Given the description of an element on the screen output the (x, y) to click on. 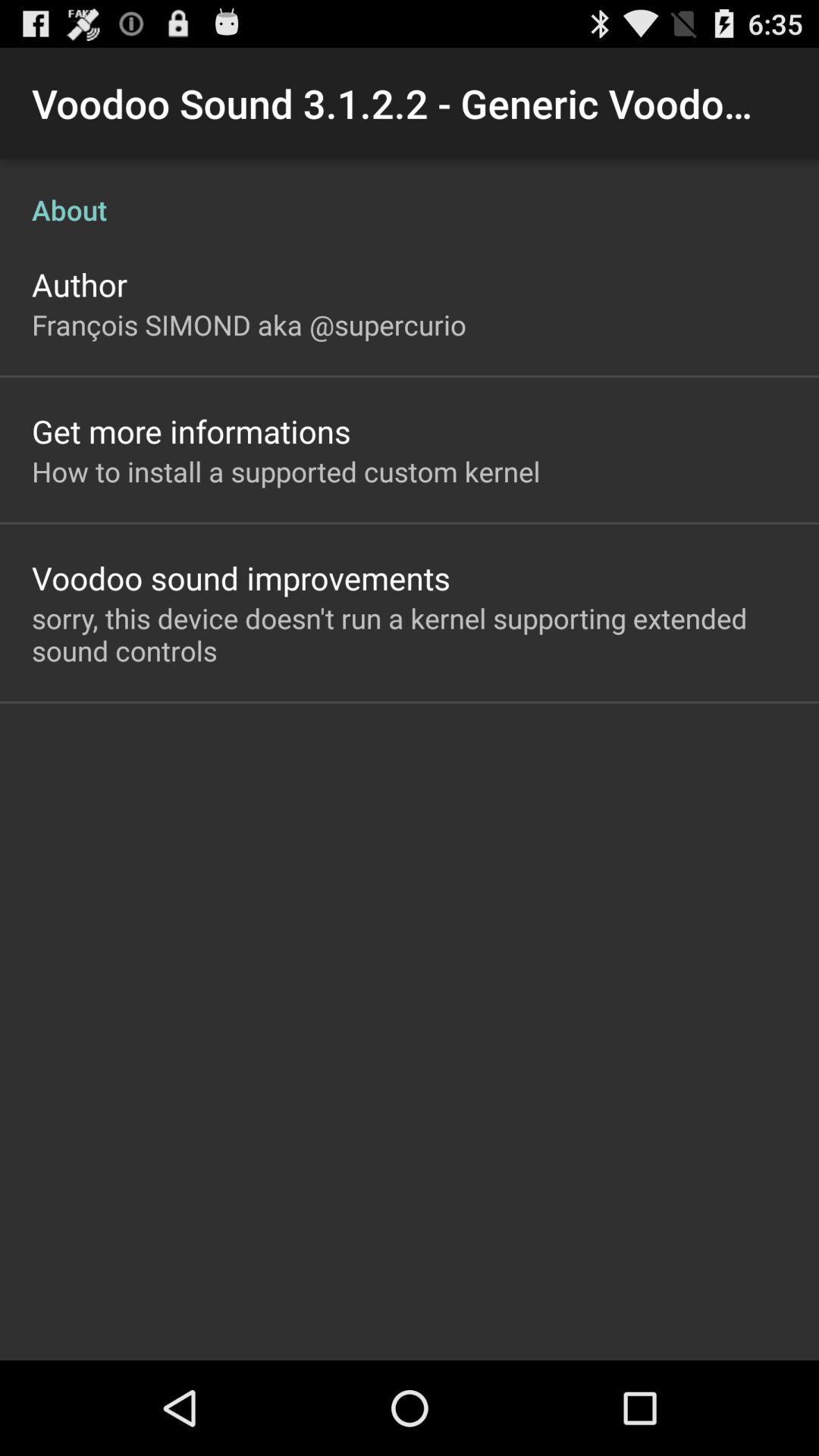
flip until about app (409, 193)
